Given the description of an element on the screen output the (x, y) to click on. 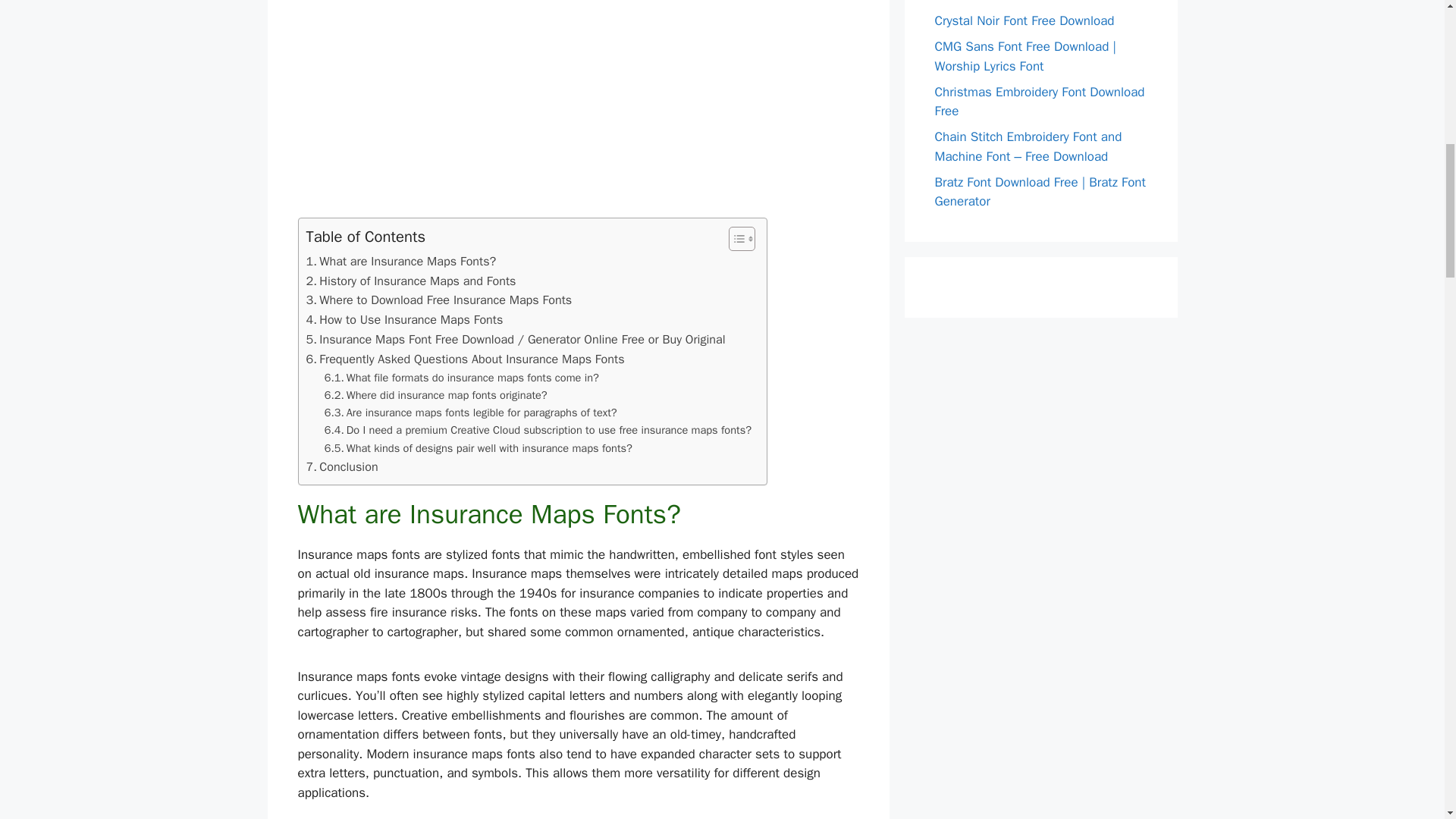
Where to Download Free Insurance Maps Fonts (438, 300)
What are Insurance Maps Fonts? (400, 261)
Where to Download Free Insurance Maps Fonts (438, 300)
Crystal Noir Font Free Download (1023, 20)
Are insurance maps fonts legible for paragraphs of text? (470, 412)
What file formats do insurance maps fonts come in? (461, 377)
Where did insurance map fonts originate? (435, 395)
History of Insurance Maps and Fonts (410, 281)
Conclusion (341, 466)
